Given the description of an element on the screen output the (x, y) to click on. 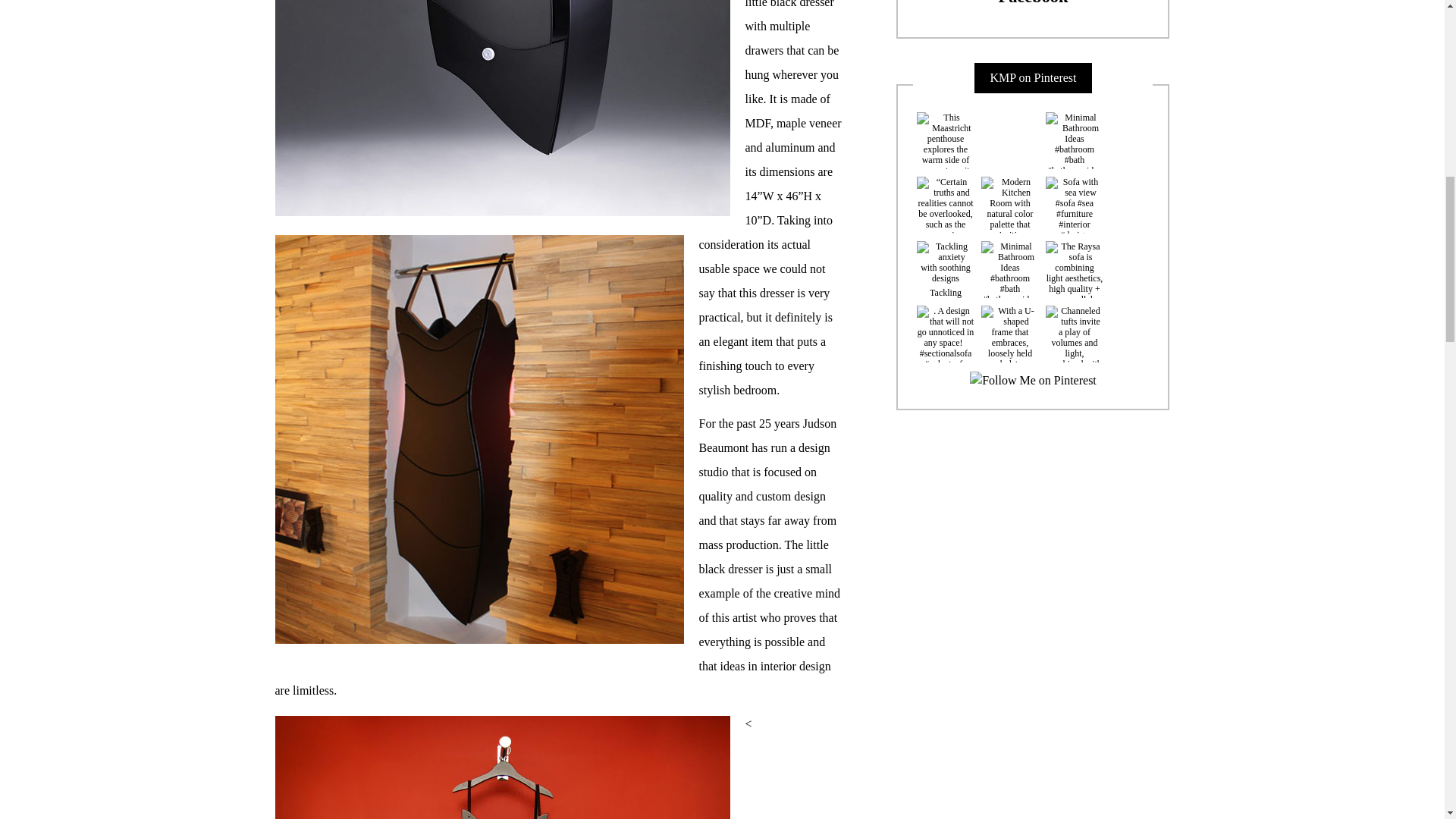
DRESSER DRESS IN BLACK (502, 767)
 - Pinned on Feb 13, 2024 (1009, 128)
DRESS DRESSER -MODERN DRESSER (502, 108)
